Given the description of an element on the screen output the (x, y) to click on. 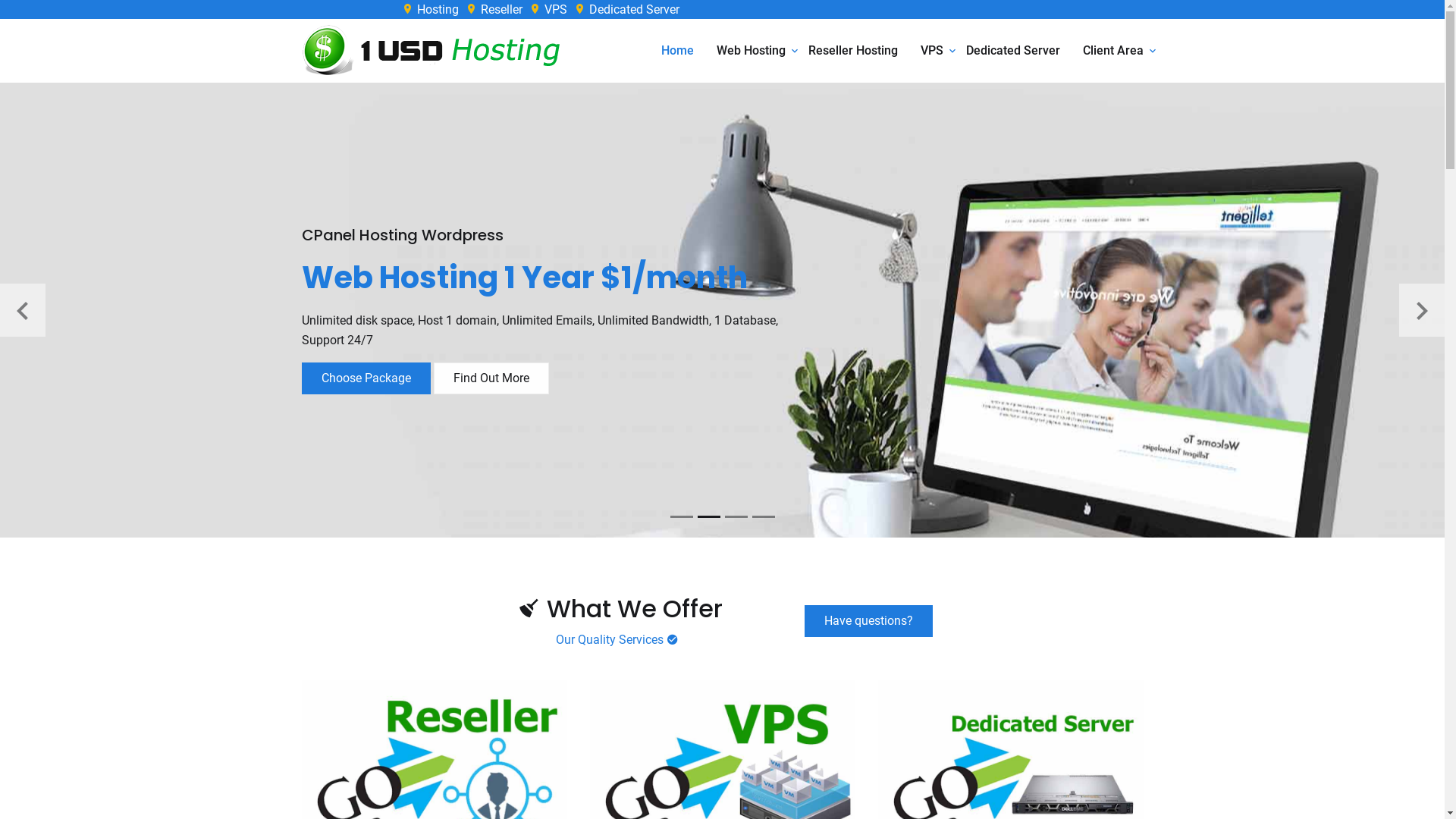
1 usd hosting Element type: hover (442, 50)
Reseller Element type: text (493, 9)
VPS Element type: text (931, 50)
Client Area Element type: text (1112, 50)
Web Hosting Element type: text (749, 50)
Choose Package Element type: text (365, 378)
Dedicated Server Element type: text (1013, 50)
Hosting Element type: text (429, 9)
Previous Element type: text (22, 309)
Have questions? Element type: text (868, 621)
Dedicated Server Element type: text (625, 9)
Find Out More Element type: text (491, 378)
Next Element type: text (1421, 309)
VPS Element type: text (548, 9)
Home Element type: text (677, 50)
Reseller Hosting Element type: text (852, 50)
